Given the description of an element on the screen output the (x, y) to click on. 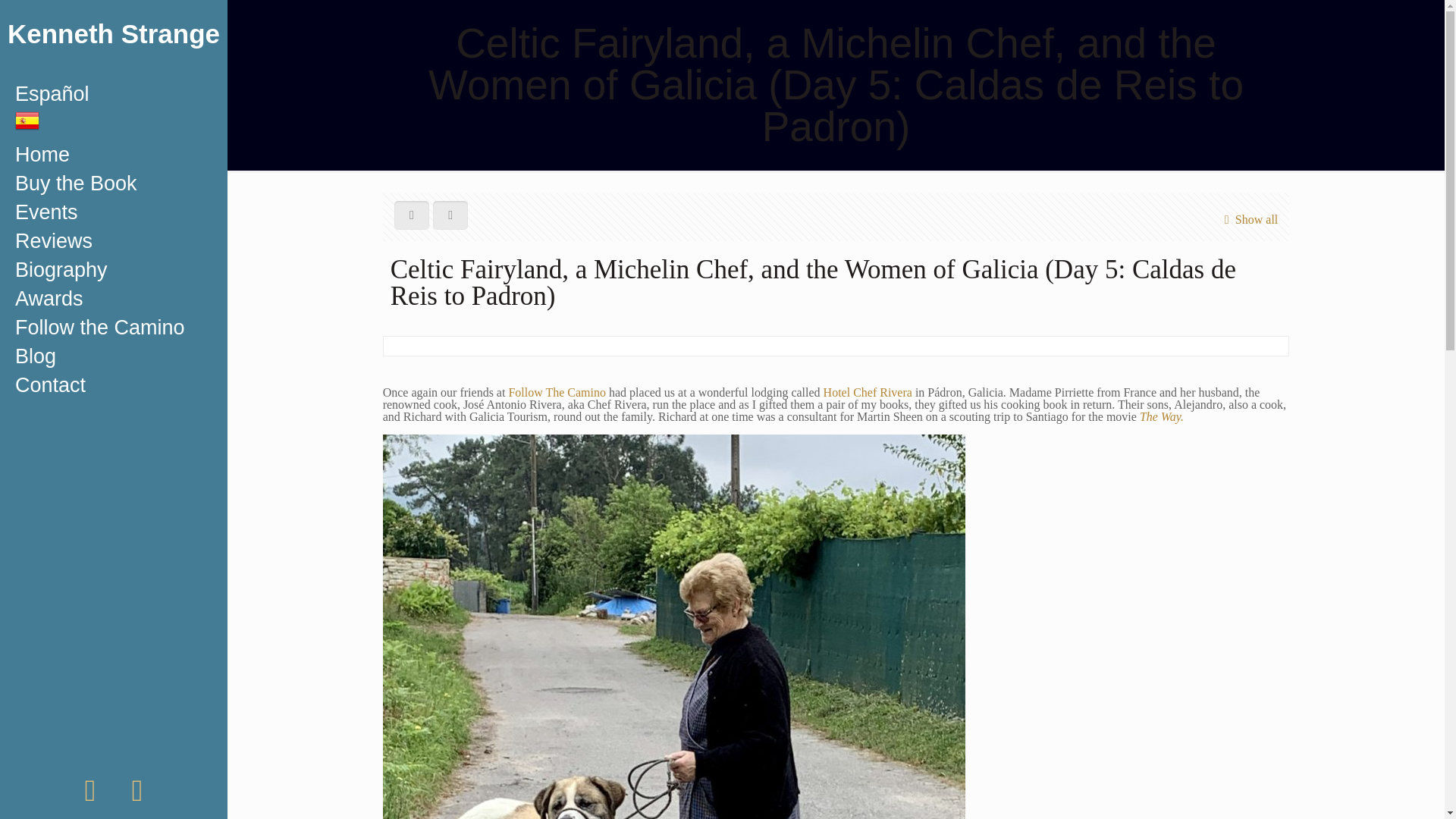
Follow the Camino (113, 327)
Home (113, 154)
Kenneth Strange (113, 39)
Biography (113, 269)
The Way. (1161, 416)
Reviews (113, 240)
Show all (1247, 219)
Blog (113, 356)
Hotel Chef Rivera (868, 391)
Kenneth Strange (113, 39)
